Given the description of an element on the screen output the (x, y) to click on. 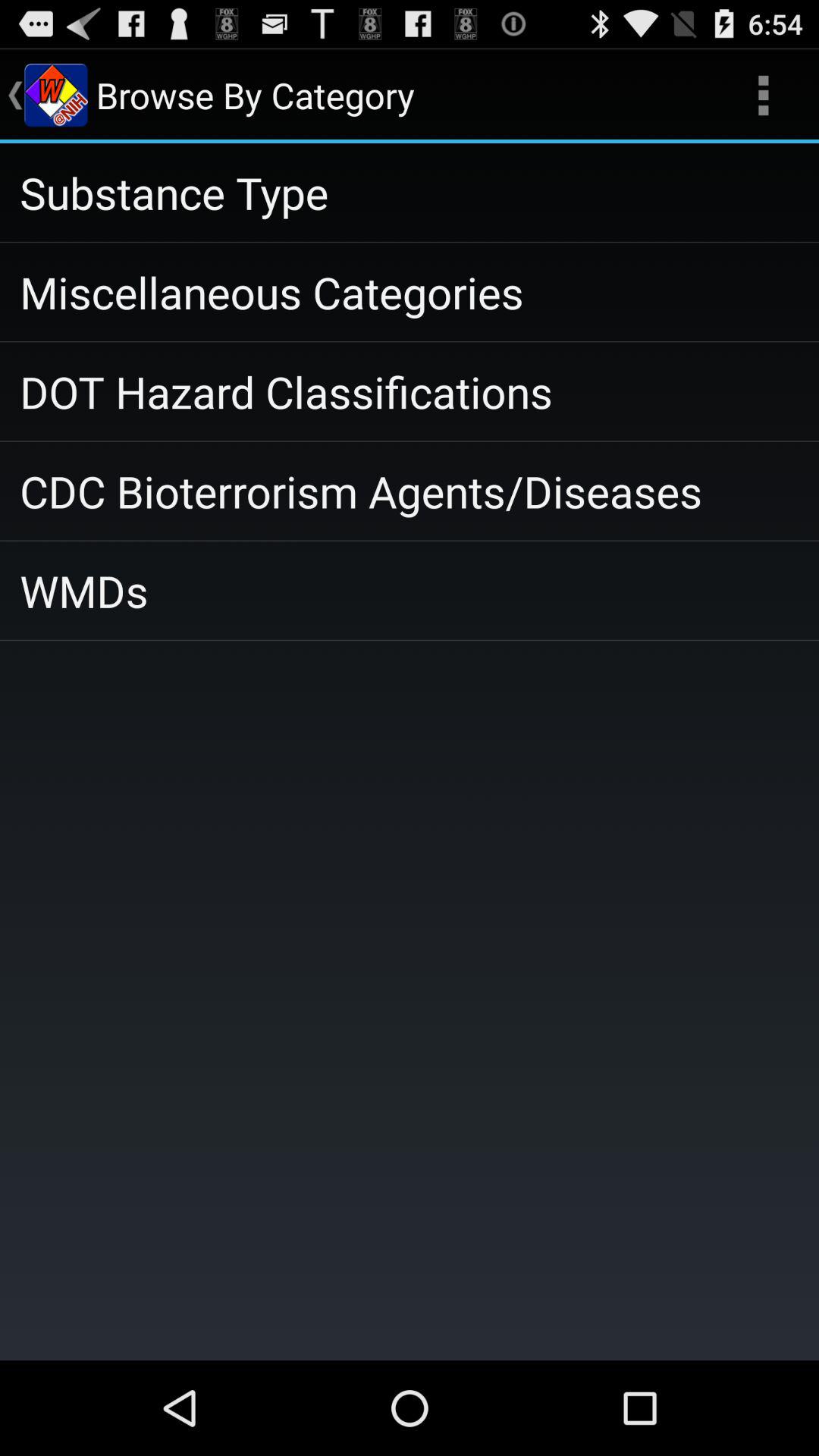
tap icon above miscellaneous categories item (409, 192)
